Given the description of an element on the screen output the (x, y) to click on. 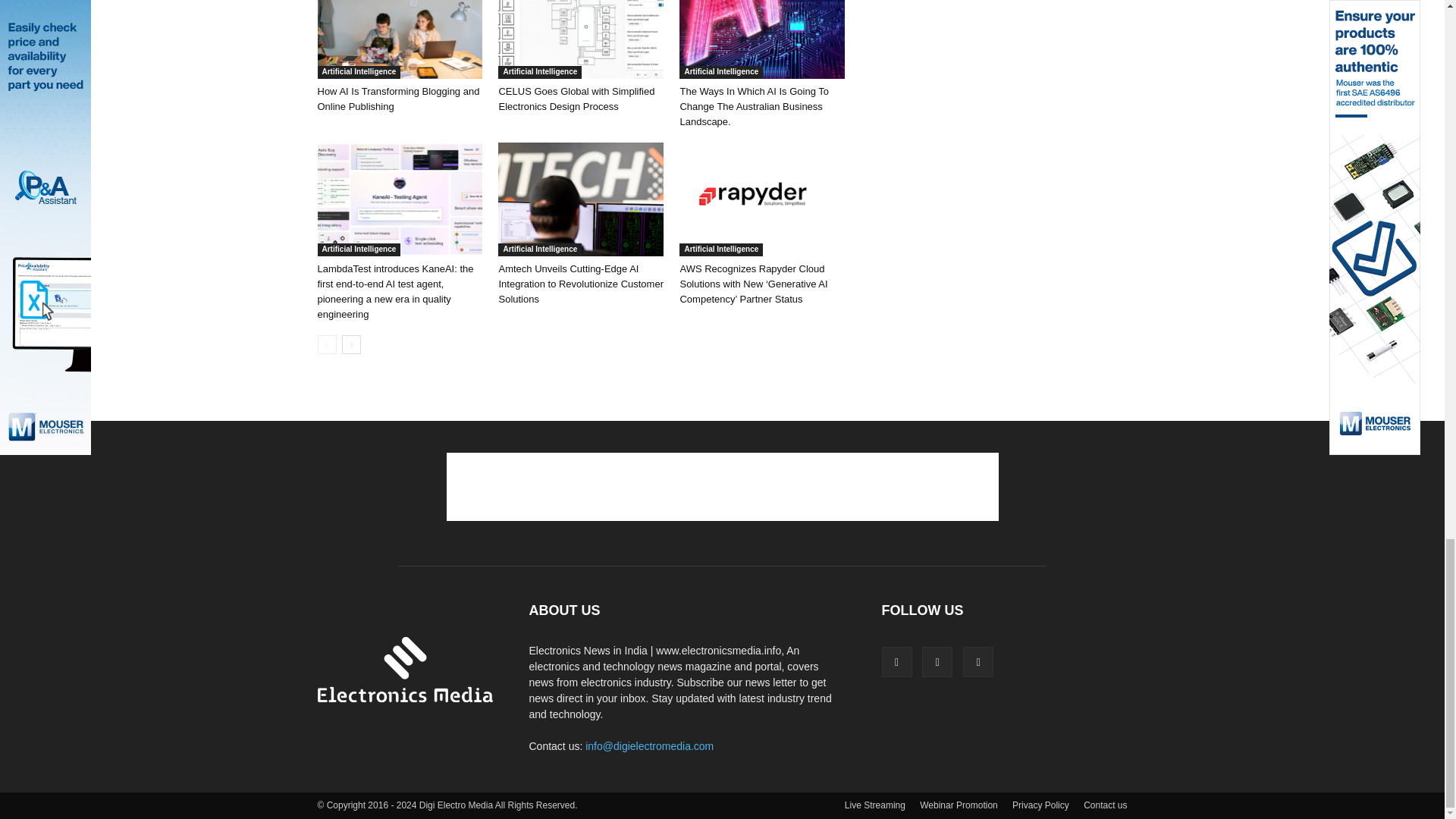
CELUS Goes Global with Simplified Electronics Design Process (580, 39)
How AI Is Transforming Blogging and Online Publishing (398, 98)
How AI Is Transforming Blogging and Online Publishing (399, 39)
CELUS Goes Global with Simplified Electronics Design Process (575, 98)
